Given the description of an element on the screen output the (x, y) to click on. 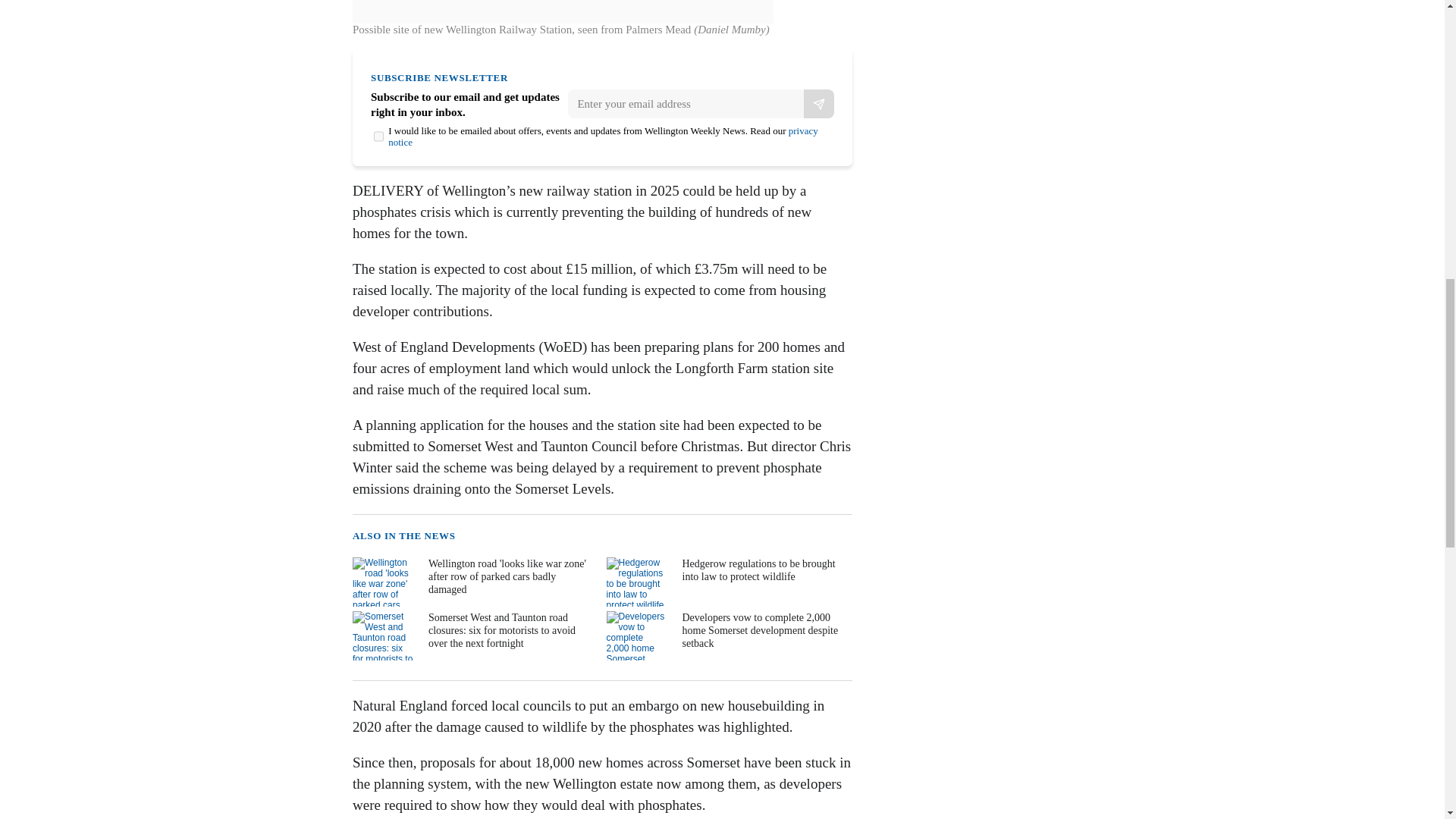
privacy notice (603, 136)
